Given the description of an element on the screen output the (x, y) to click on. 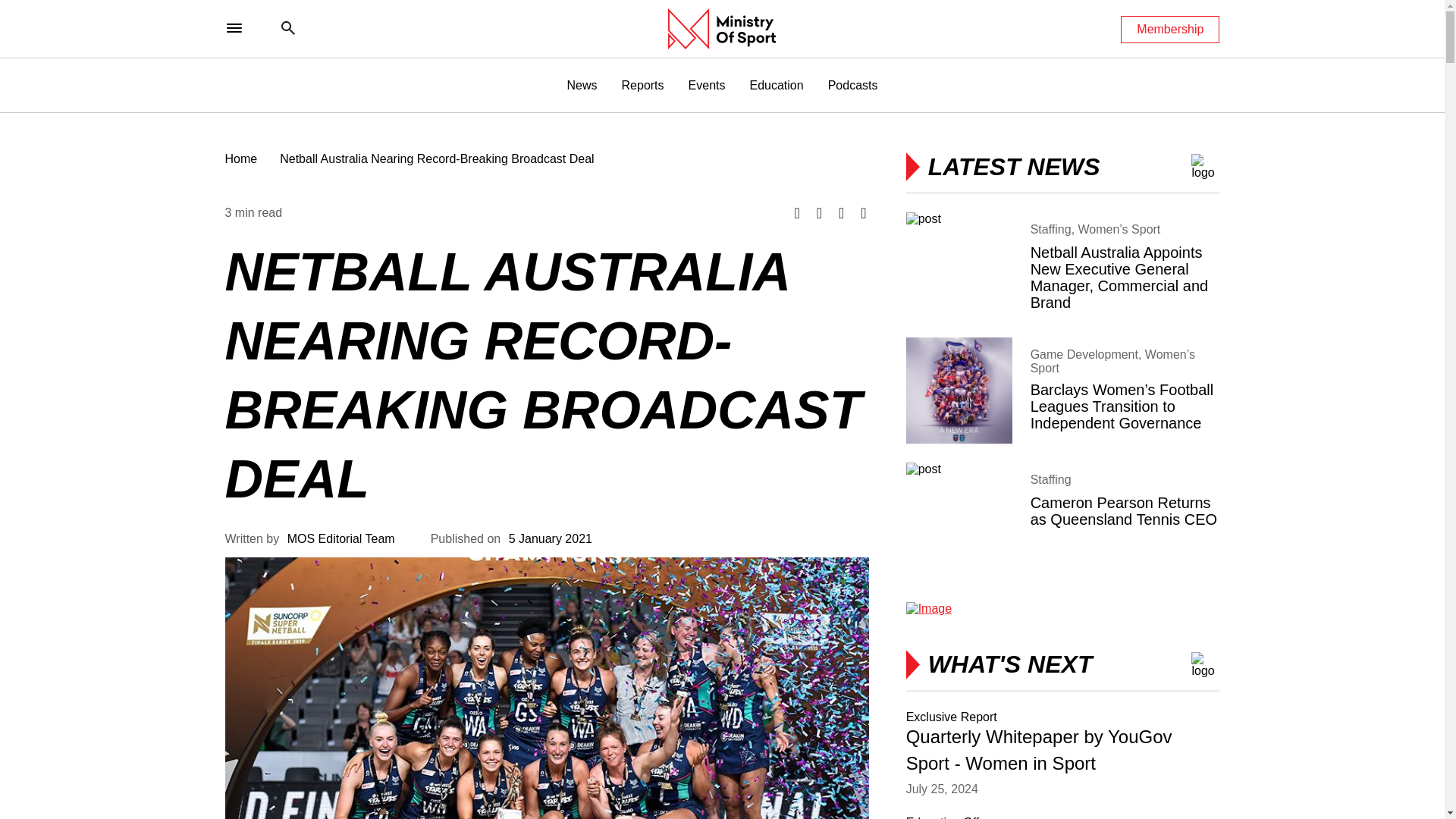
Education (776, 85)
Membership (1170, 29)
Ministry of Sport (722, 28)
Home (240, 158)
Cameron Pearson Returns as Queensland Tennis CEO (1062, 515)
Podcasts (852, 85)
